Given the description of an element on the screen output the (x, y) to click on. 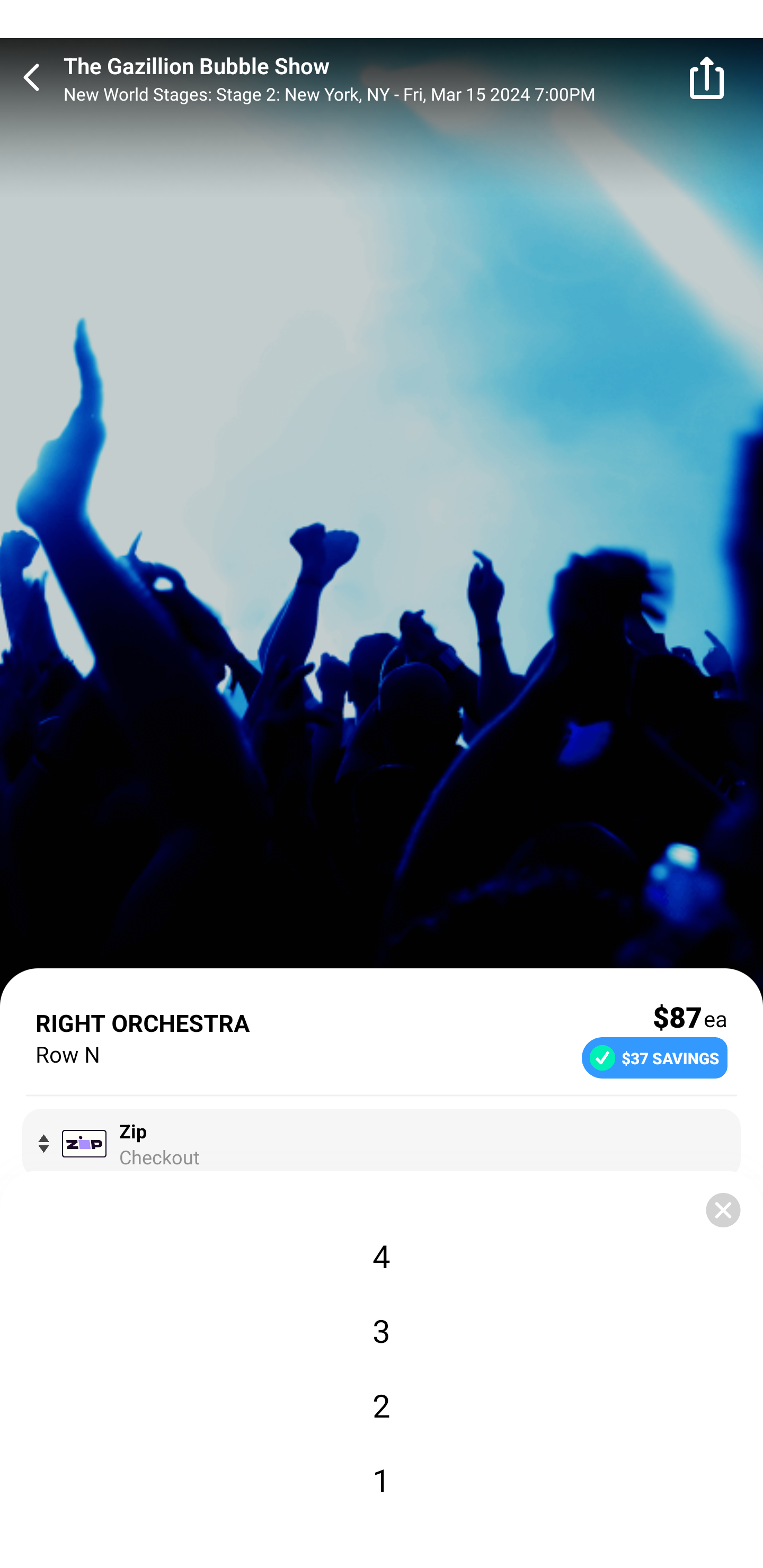
4 (381, 1255)
3 (381, 1330)
2 (381, 1404)
1 (381, 1479)
